Given the description of an element on the screen output the (x, y) to click on. 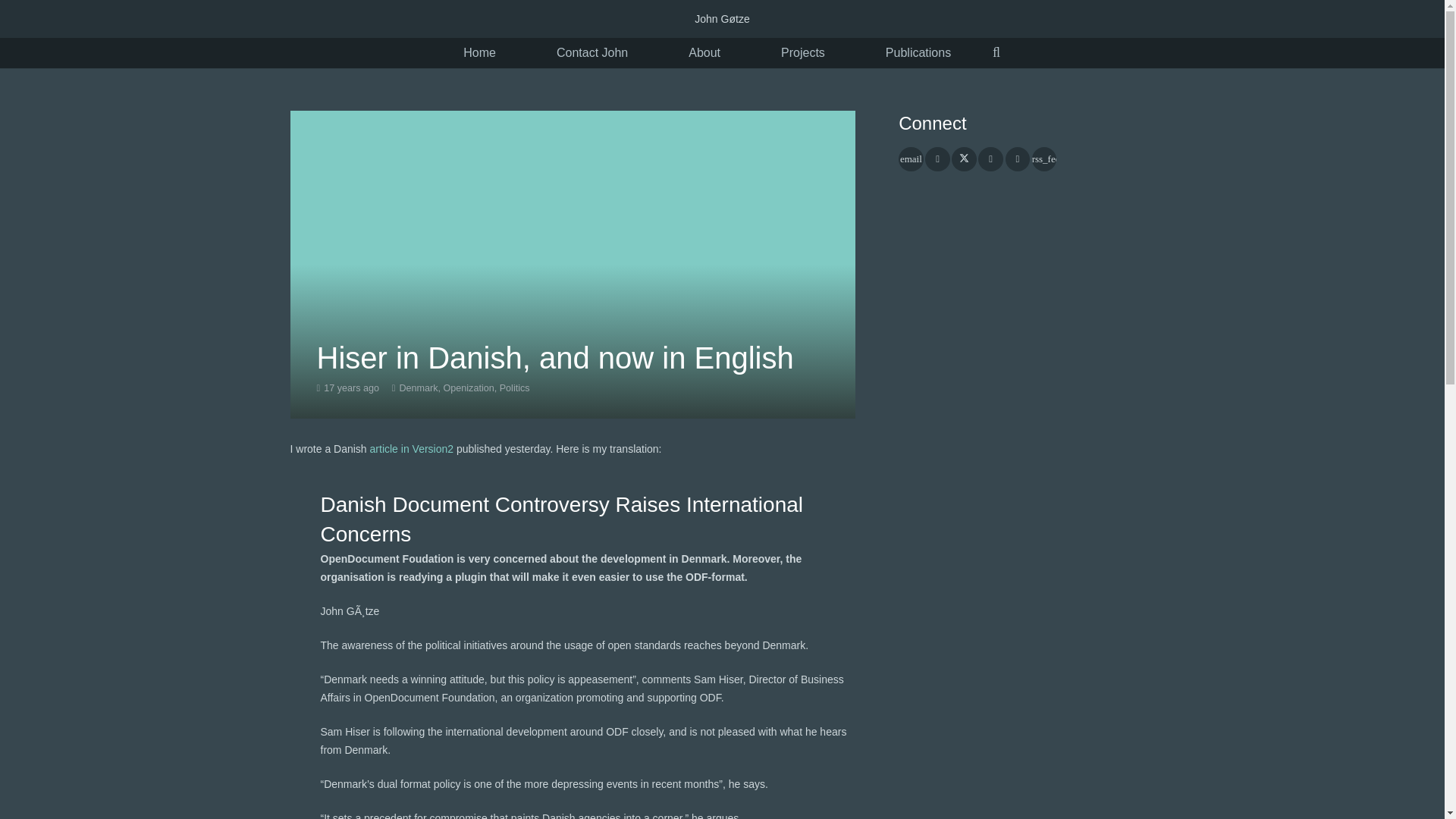
RSS (1044, 159)
Google (990, 159)
article in Version2 (411, 449)
Projects (803, 53)
Publications (918, 53)
Openization (467, 388)
Denmark (418, 388)
About (704, 53)
Twitter (964, 159)
Contact John (591, 53)
Facebook (937, 159)
Politics (514, 388)
Home (478, 53)
LinkedIn (1018, 159)
Email (910, 159)
